Given the description of an element on the screen output the (x, y) to click on. 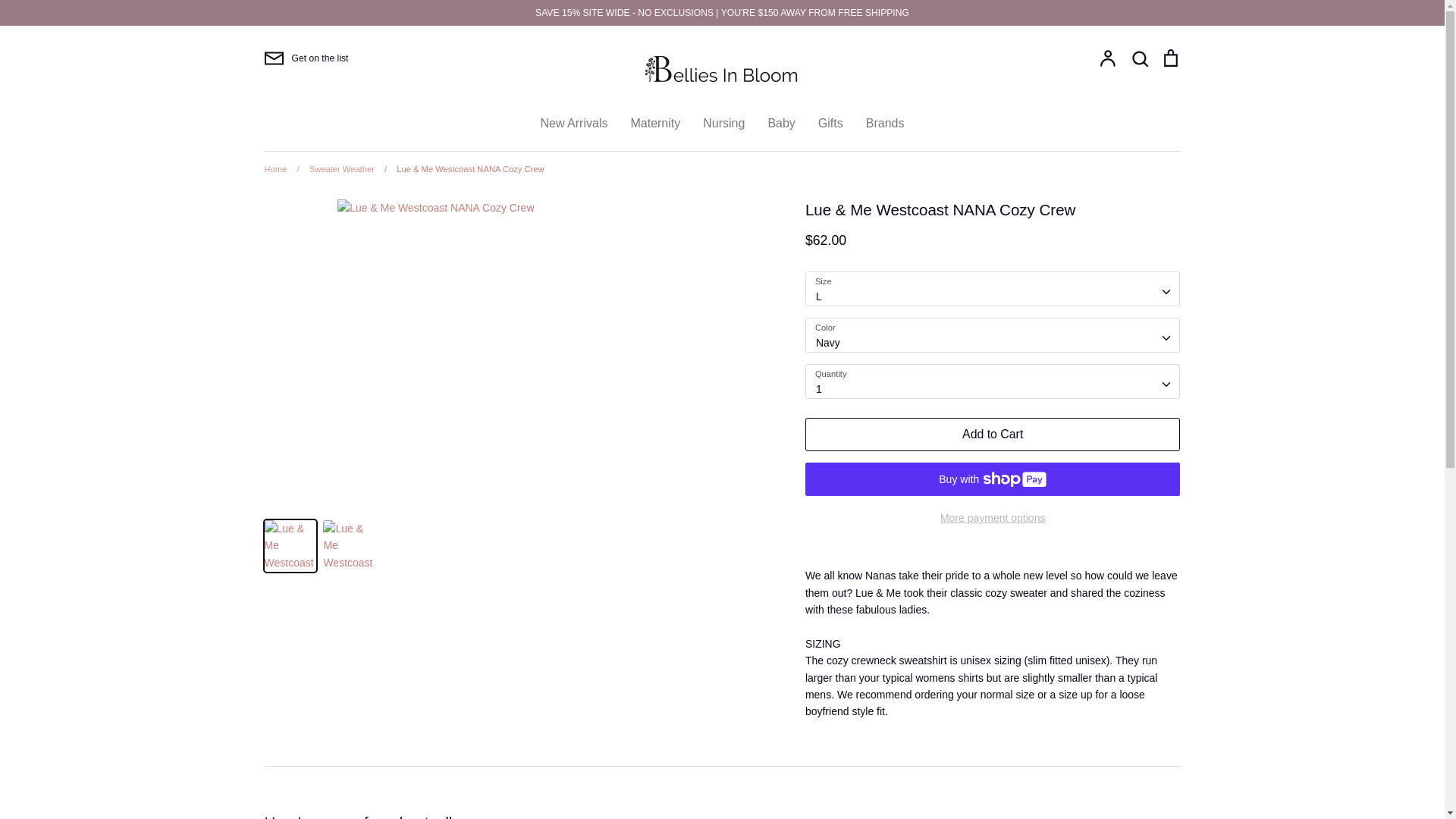
Maternity (654, 123)
Account (1107, 57)
L (992, 288)
Navy (992, 335)
Search (1139, 57)
Get on the list (305, 57)
Cart (1169, 57)
New Arrivals (574, 123)
1 (992, 381)
